Given the description of an element on the screen output the (x, y) to click on. 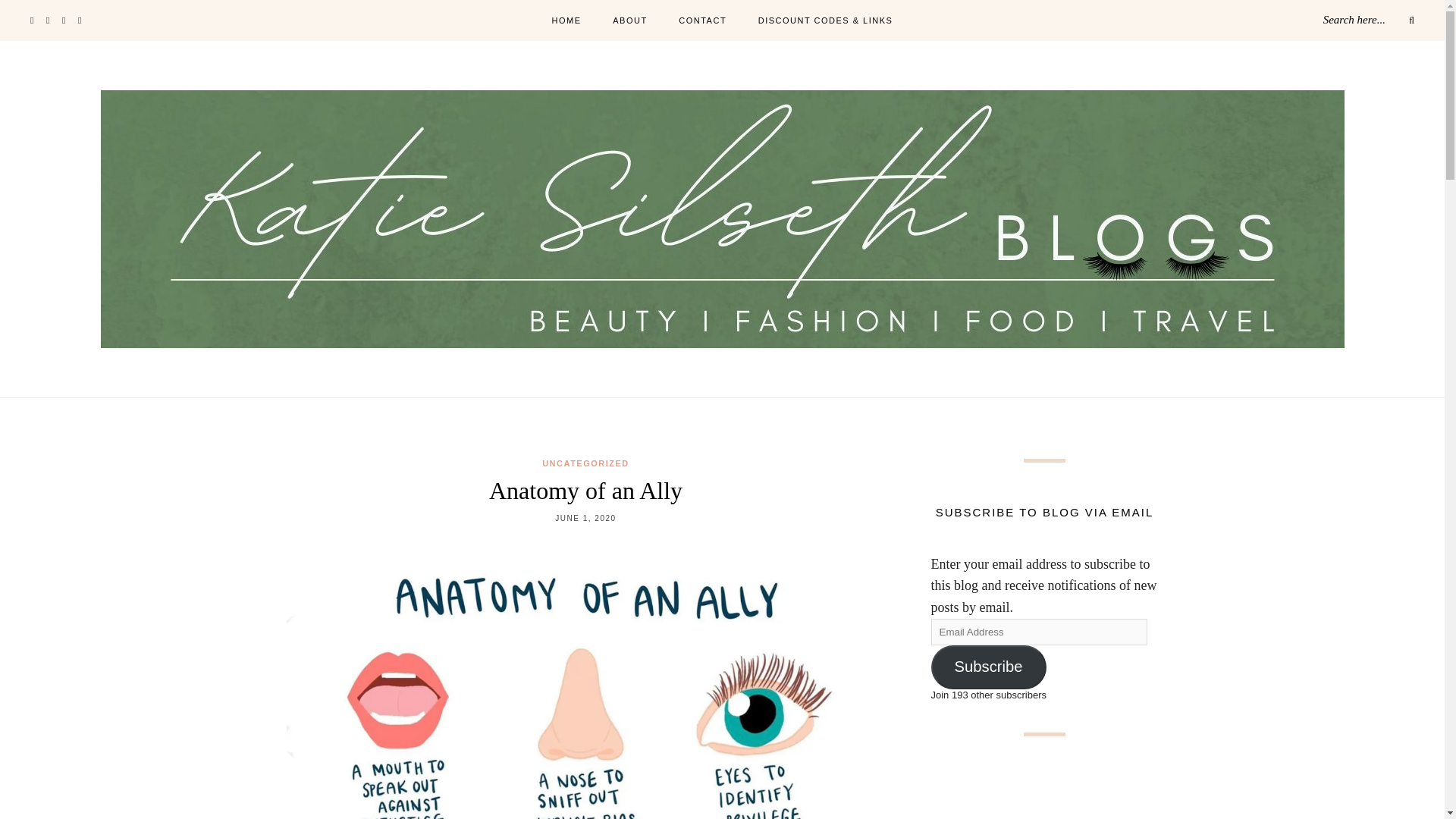
JUNE 1, 2020 (584, 518)
CONTACT (702, 20)
UNCATEGORIZED (584, 462)
Subscribe (988, 667)
